Given the description of an element on the screen output the (x, y) to click on. 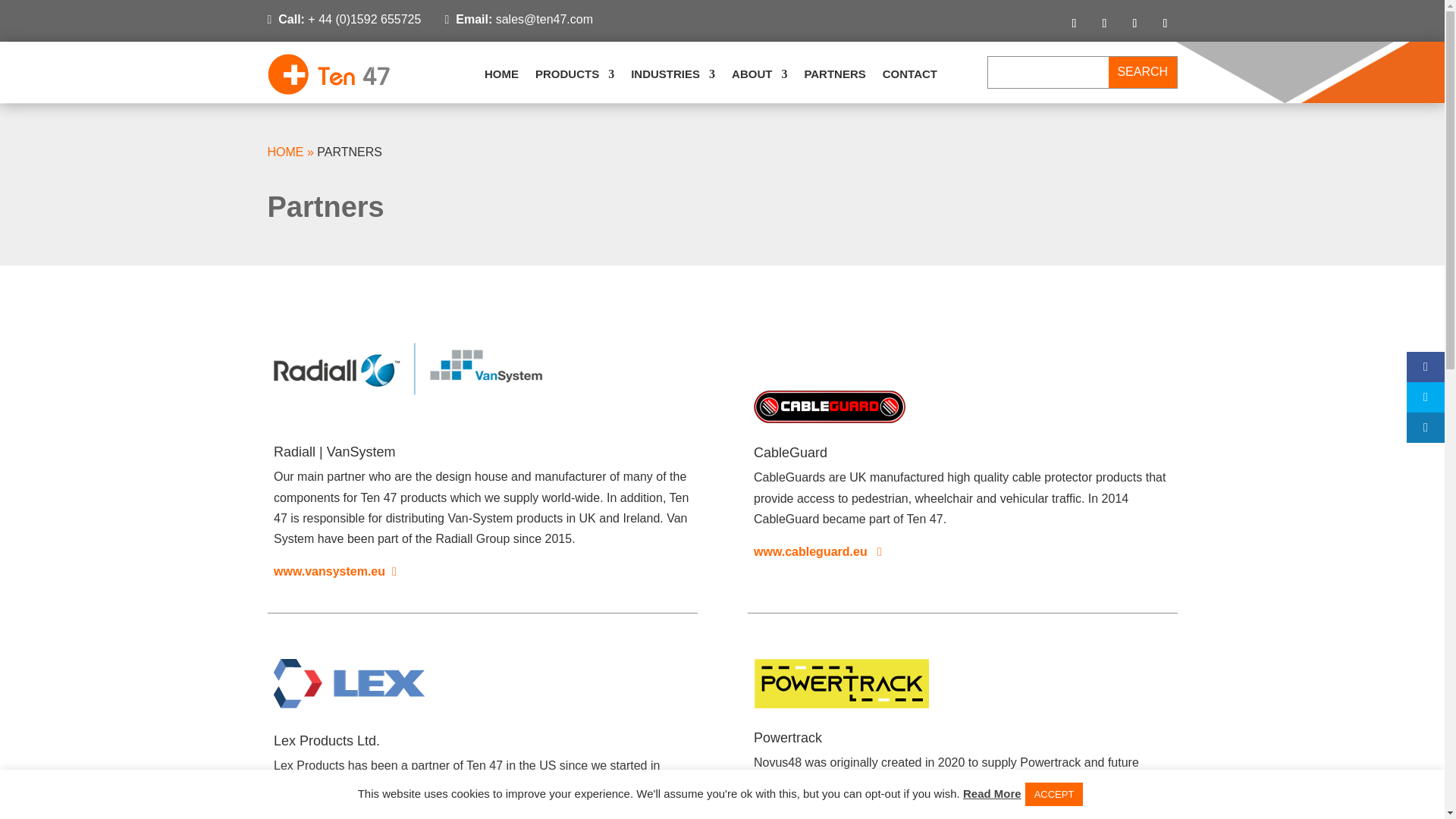
Search (1142, 71)
CONTACT (909, 74)
PRODUCTS (574, 74)
Follow on Youtube (1164, 23)
INDUSTRIES (672, 74)
ABOUT (759, 74)
Follow on X (1134, 23)
Follow on Facebook (1073, 23)
Follow on LinkedIn (1104, 23)
PARTNERS (833, 74)
Search (1142, 71)
